Given the description of an element on the screen output the (x, y) to click on. 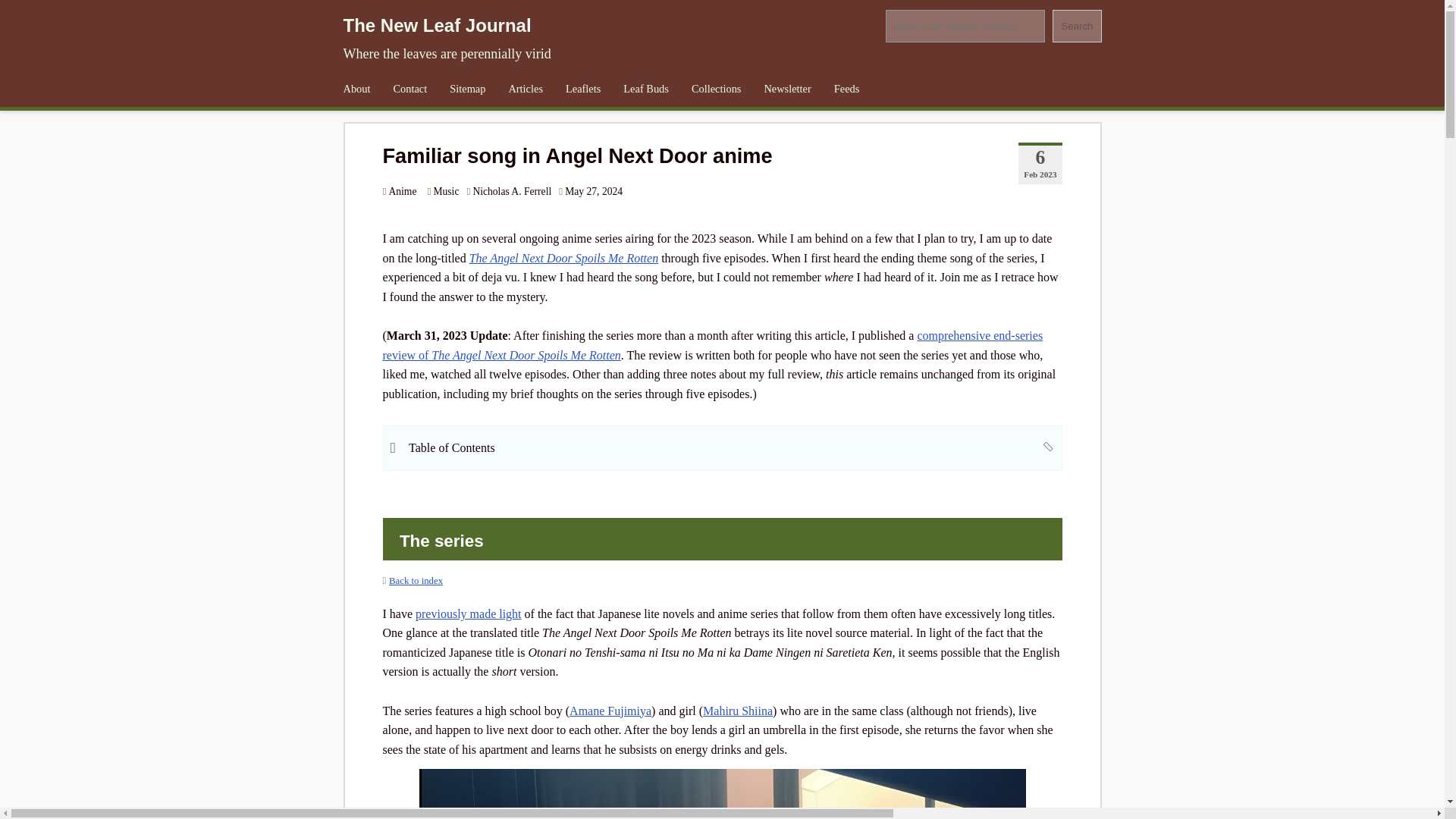
Amane Fujimiya (609, 710)
Leaflets (582, 89)
About (356, 89)
Articles (525, 89)
Music (442, 191)
Anime (398, 191)
The New Leaf Journal (436, 25)
Search (1076, 26)
Sitemap (467, 89)
Collections (715, 89)
Nicholas A. Ferrell (511, 191)
previously made light (467, 613)
Leaf Buds (645, 89)
Mahiru Shiina (738, 710)
